Given the description of an element on the screen output the (x, y) to click on. 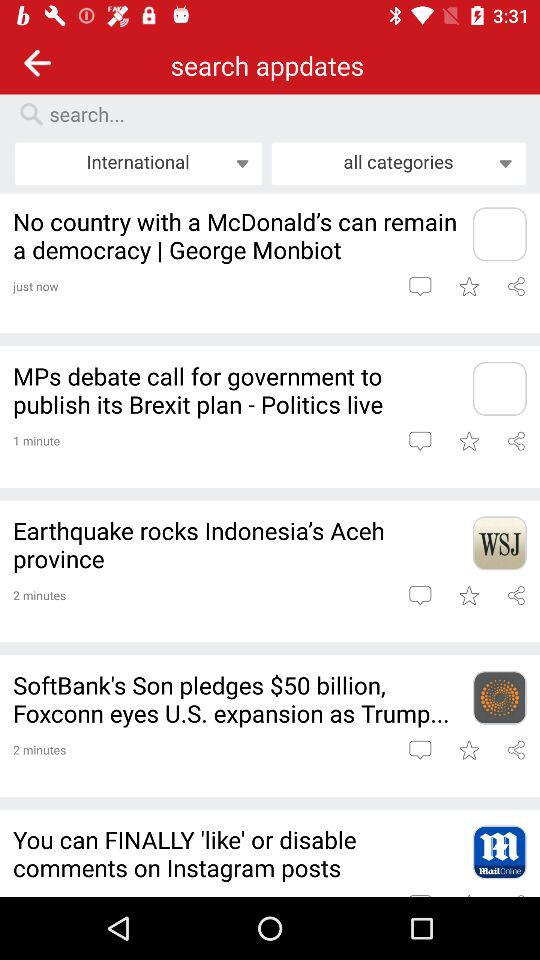
write text (419, 440)
